Given the description of an element on the screen output the (x, y) to click on. 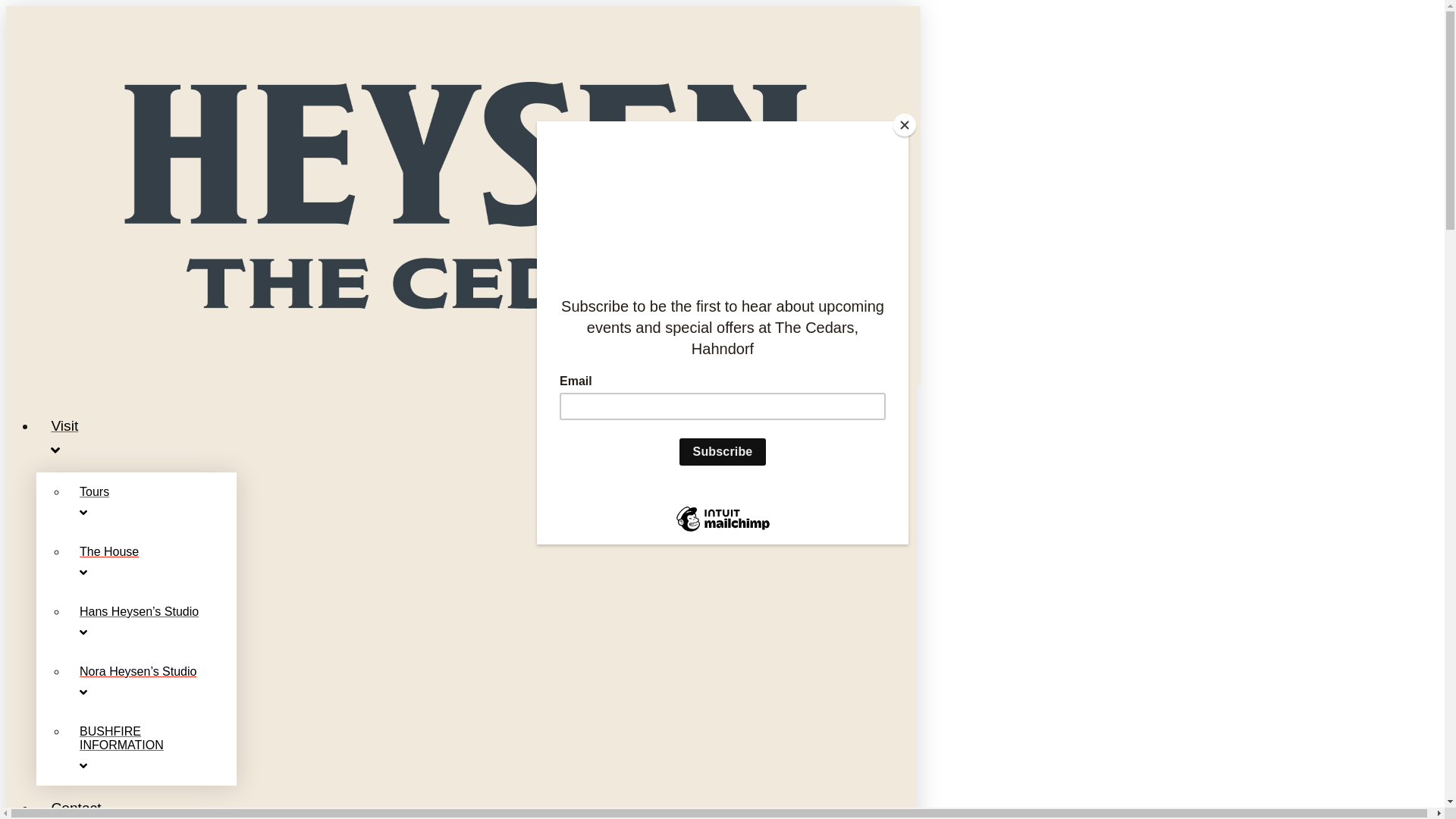
BUSHFIRE INFORMATION Element type: text (151, 748)
The House Element type: text (151, 562)
Visit Element type: text (476, 437)
Tours Element type: text (151, 502)
